Given the description of an element on the screen output the (x, y) to click on. 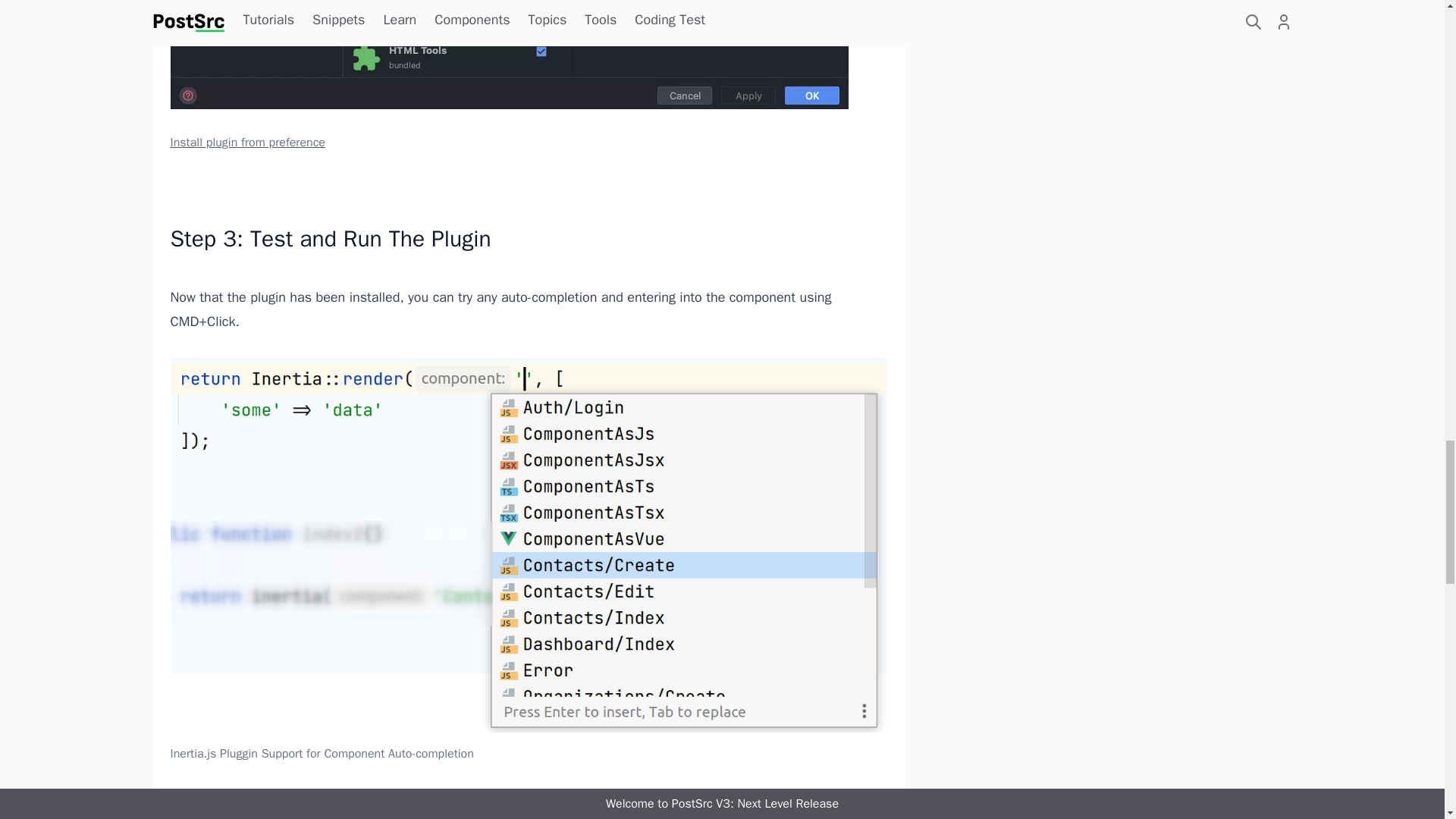
Install plugin from preference (527, 75)
